Given the description of an element on the screen output the (x, y) to click on. 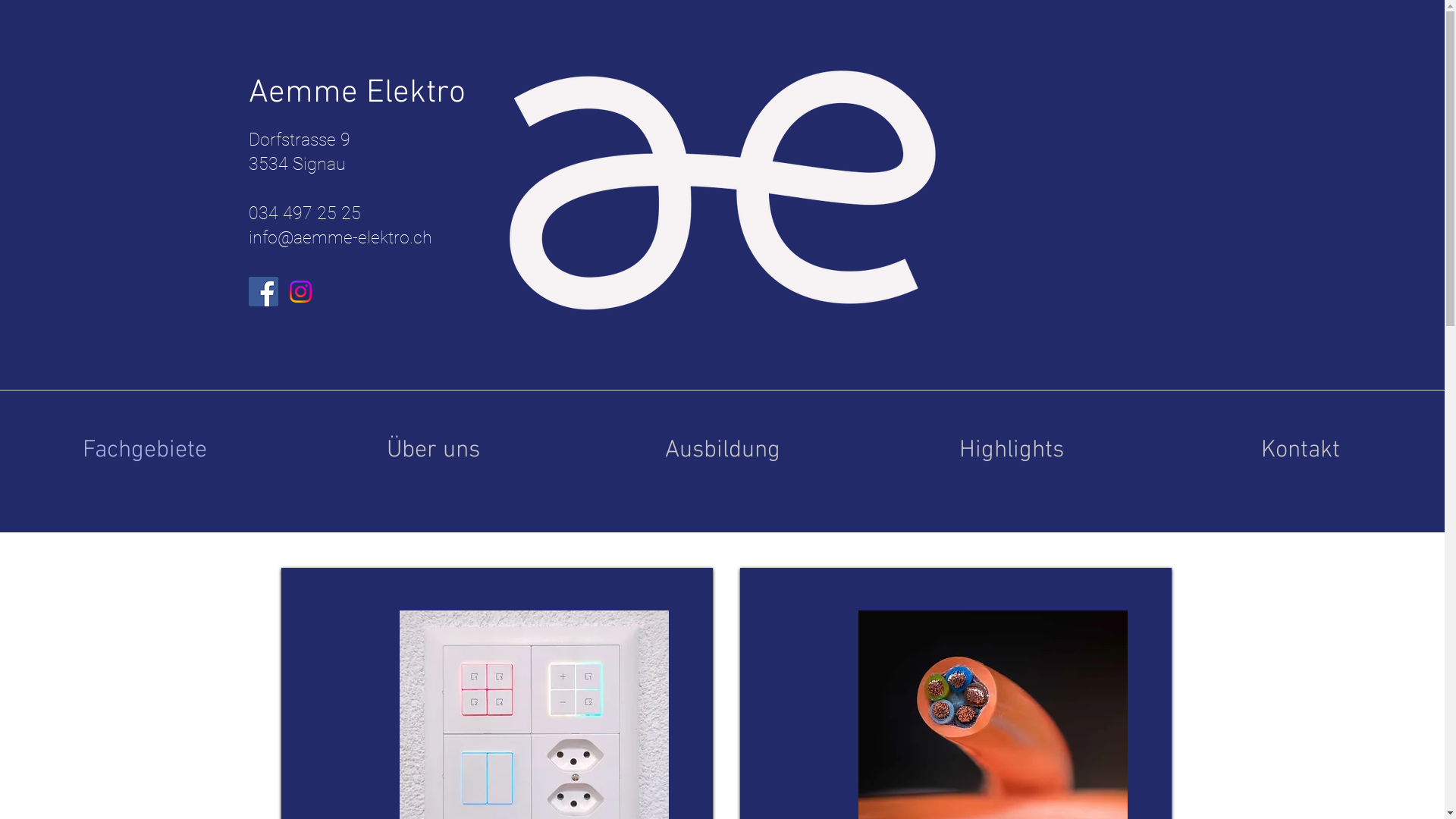
Fachgebiete Element type: text (144, 449)
Kontakt Element type: text (1299, 449)
Highlights Element type: text (1010, 449)
Ausbildung Element type: text (721, 449)
info@aemme-elektro.ch Element type: text (340, 237)
